Given the description of an element on the screen output the (x, y) to click on. 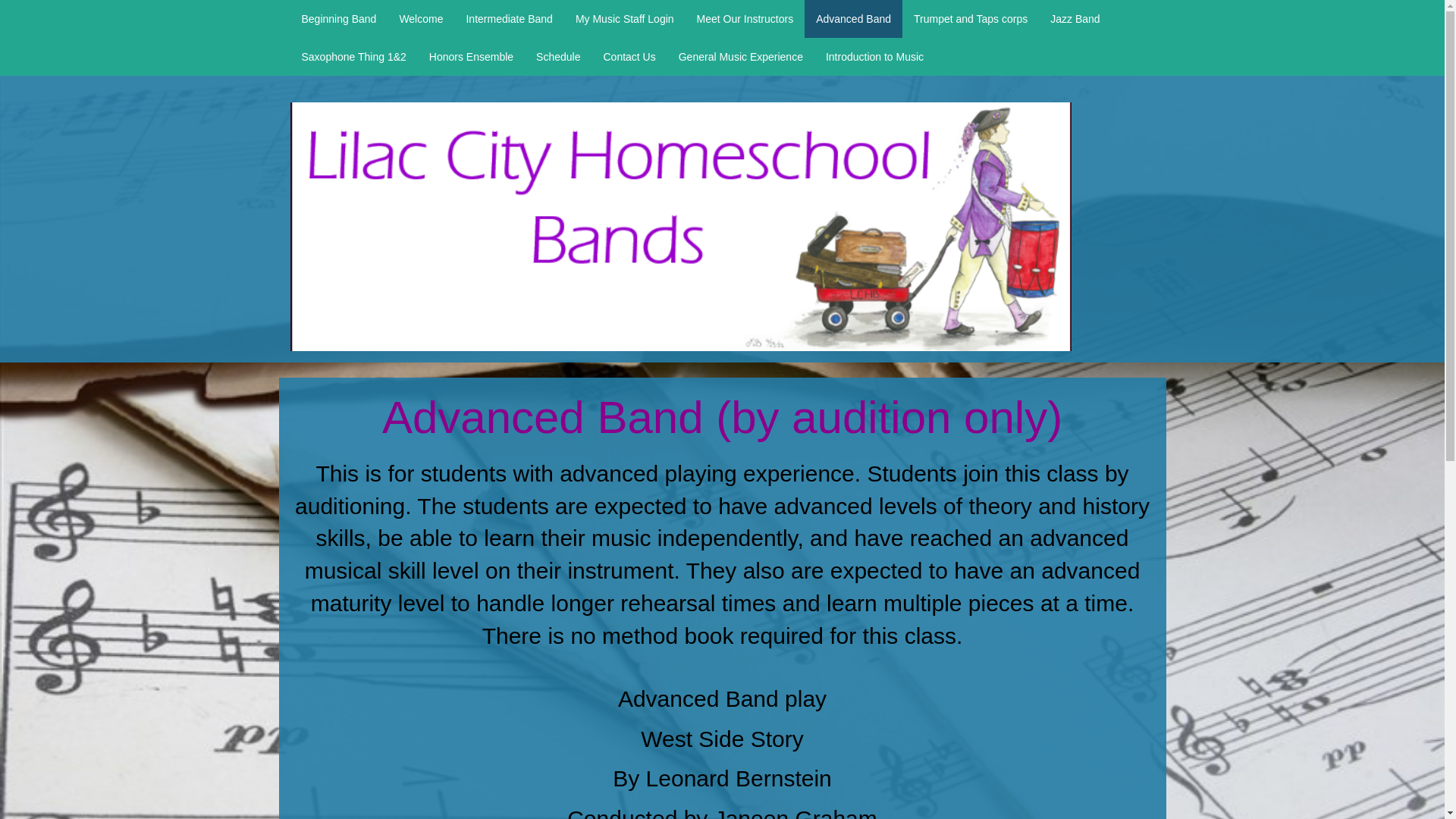
General Music Experience (739, 56)
My Music Staff Login (624, 18)
Beginning Band (338, 18)
Advanced Band (853, 18)
Intermediate Band (508, 18)
Introduction to Music (873, 56)
Welcome (420, 18)
Schedule (557, 56)
Honors Ensemble (470, 56)
Jazz Band (1074, 18)
Contact Us (628, 56)
Trumpet and Taps corps (970, 18)
Meet Our Instructors (745, 18)
